Given the description of an element on the screen output the (x, y) to click on. 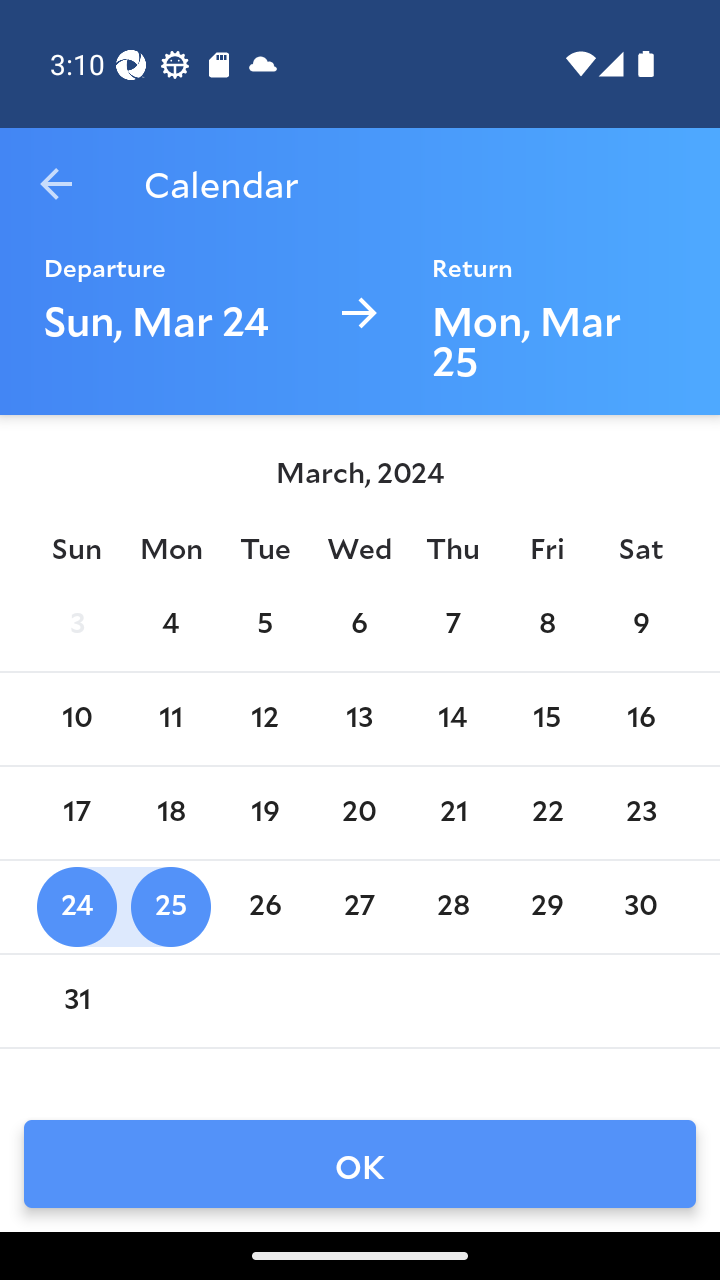
Navigate up (56, 184)
3 (76, 624)
4 (170, 624)
5 (264, 624)
6 (358, 624)
7 (453, 624)
8 (546, 624)
9 (641, 624)
10 (76, 718)
11 (170, 718)
12 (264, 718)
13 (358, 718)
14 (453, 718)
15 (546, 718)
16 (641, 718)
17 (76, 812)
18 (170, 812)
19 (264, 812)
20 (358, 812)
21 (453, 812)
22 (546, 812)
23 (641, 812)
24 (76, 906)
25 (170, 906)
26 (264, 906)
27 (358, 906)
28 (453, 906)
29 (546, 906)
30 (641, 906)
31 (76, 1000)
OK (359, 1164)
